Given the description of an element on the screen output the (x, y) to click on. 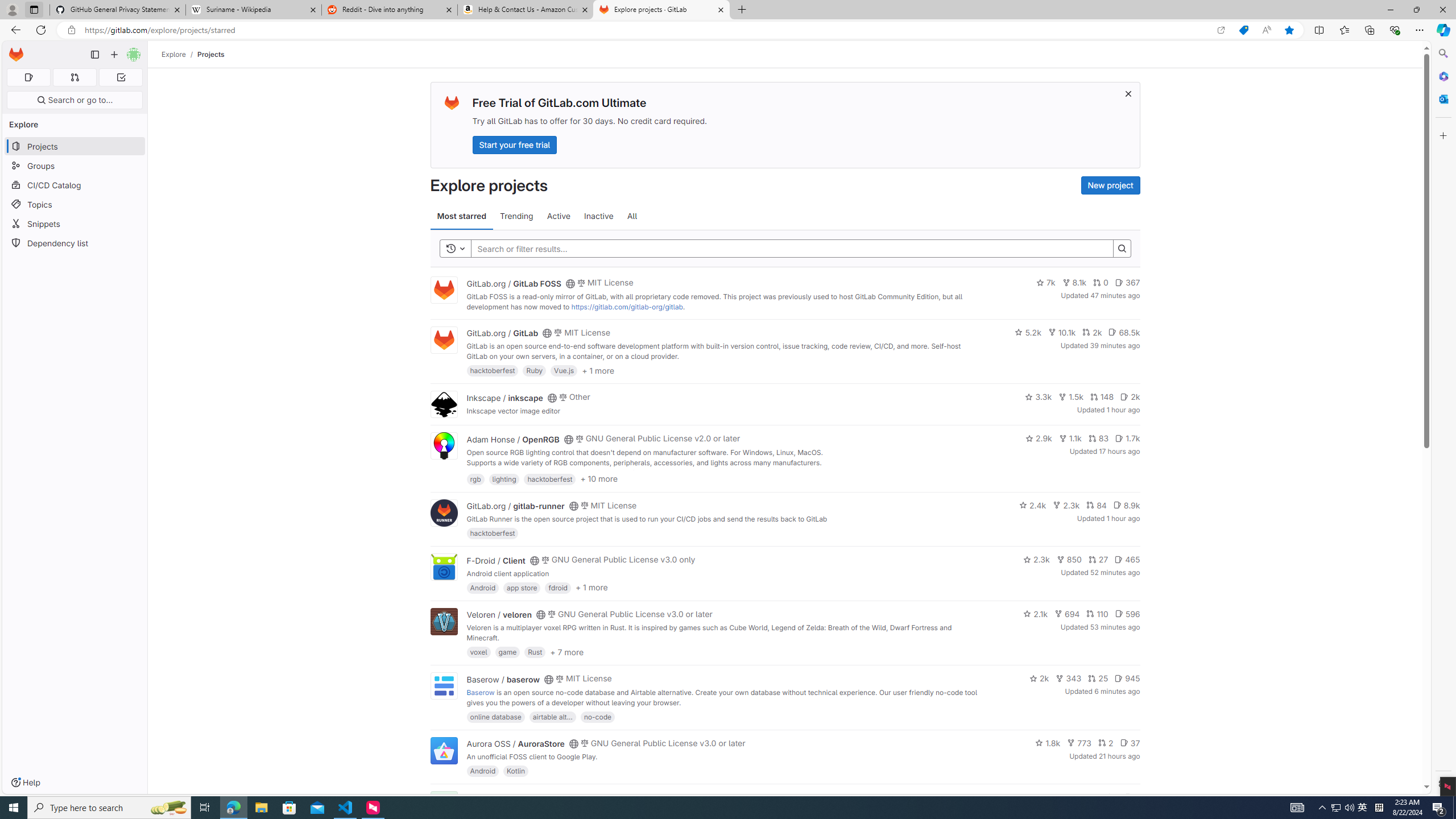
Veloren / veloren (498, 614)
Create new... (113, 54)
lighting (504, 478)
Homepage (16, 54)
Projects (211, 53)
fdroid (558, 587)
Start your free trial (514, 144)
Class: s16 gl-icon gl-button-icon  (1127, 93)
2k (1039, 678)
Dismiss trial promotion (1128, 93)
Skip to main content (13, 49)
694 (1067, 613)
online database (495, 715)
